Given the description of an element on the screen output the (x, y) to click on. 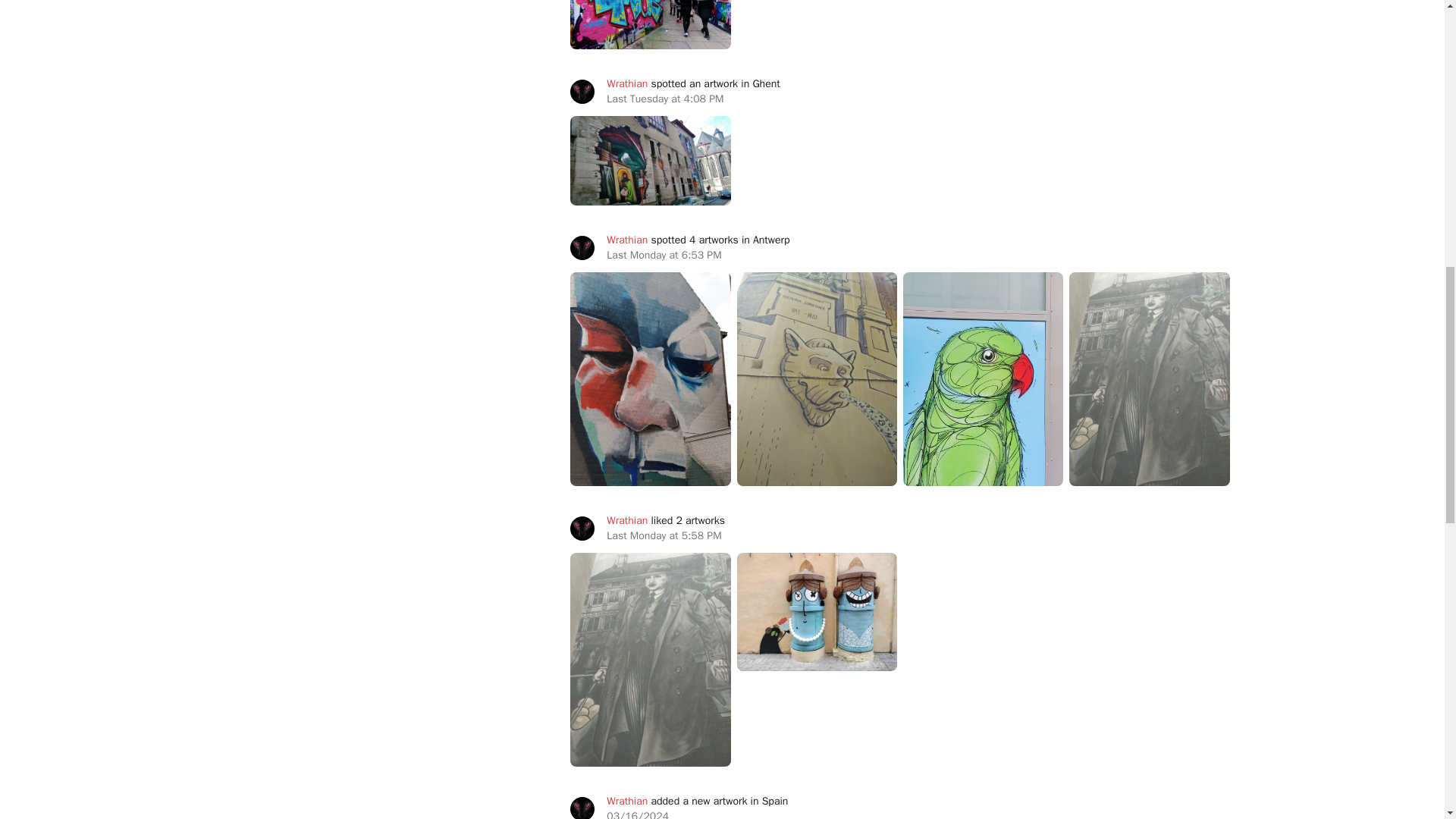
Wrathian (627, 800)
Wrathian (627, 83)
Wrathian (627, 520)
Wrathian (627, 239)
